Given the description of an element on the screen output the (x, y) to click on. 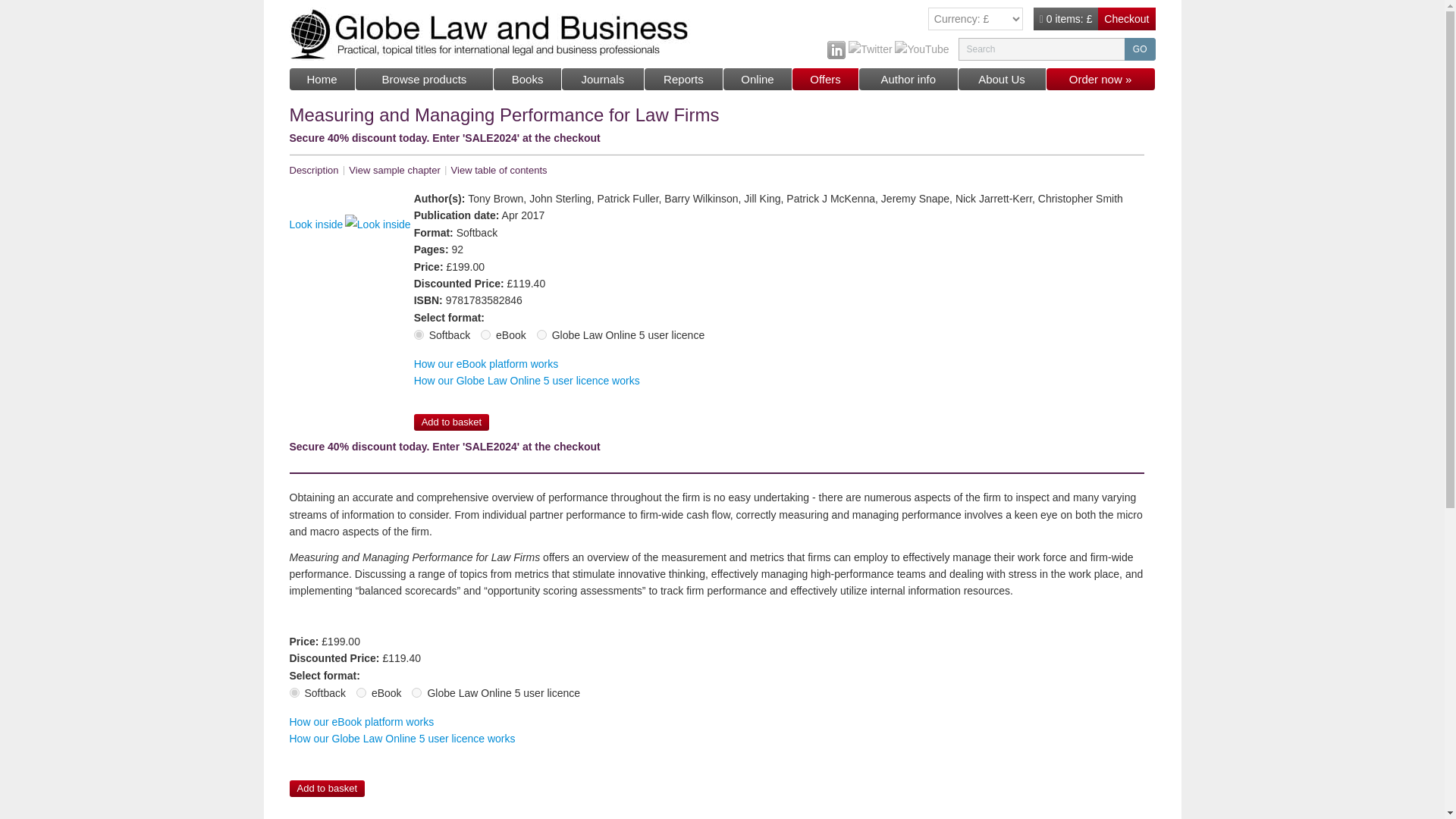
softback (418, 334)
Reports (684, 78)
LinkedIn (836, 48)
Journals (603, 78)
About Us (1002, 78)
Twitter (869, 48)
softback (294, 692)
Home (322, 78)
GO (1140, 48)
GO (1140, 48)
